Given the description of an element on the screen output the (x, y) to click on. 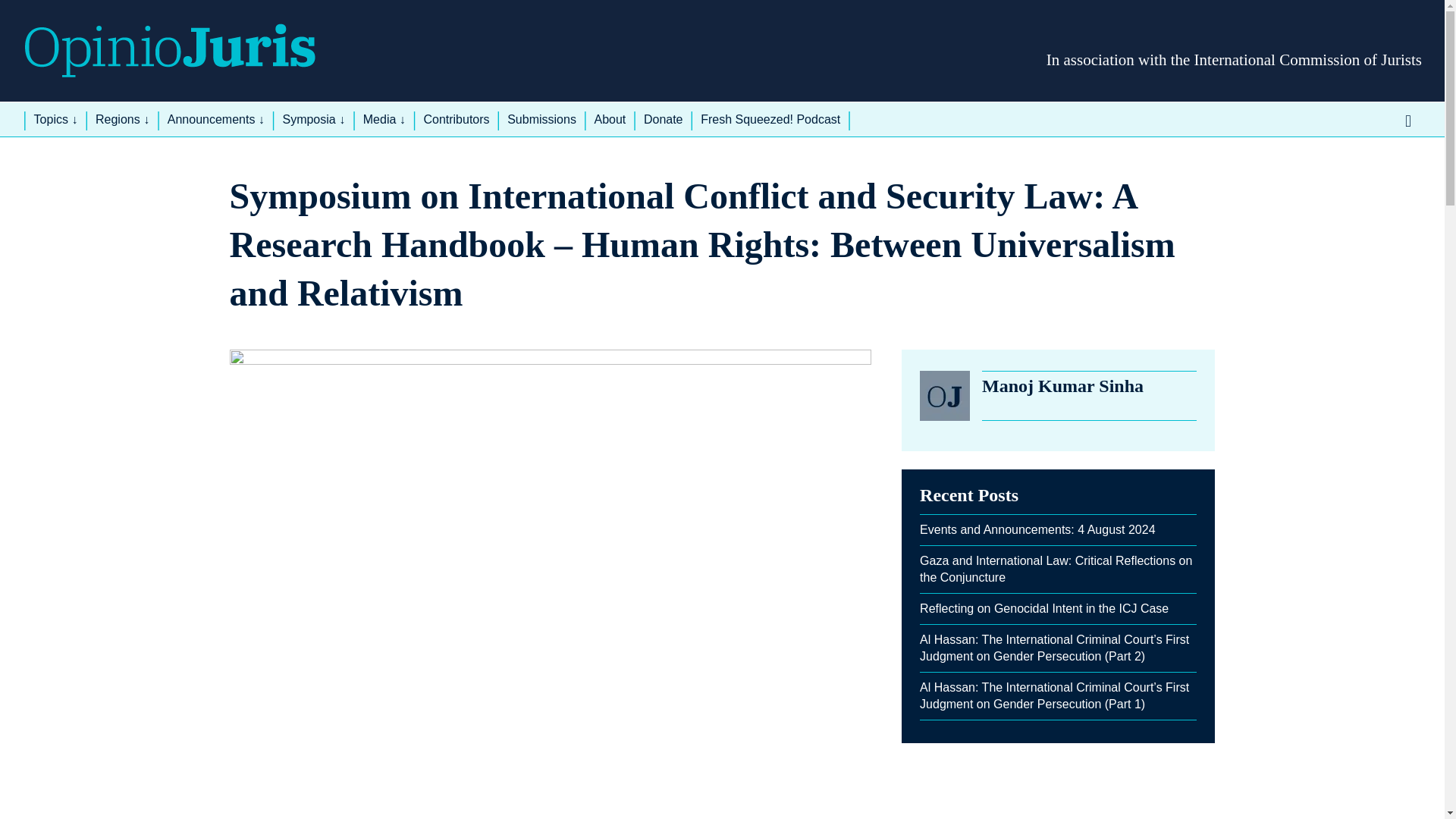
Donate (663, 119)
Fresh Squeezed! Podcast (770, 119)
Submissions (541, 119)
Donate (663, 119)
About (608, 119)
In association with the International Commission of Jurists (1234, 59)
Contributors (456, 119)
